Given the description of an element on the screen output the (x, y) to click on. 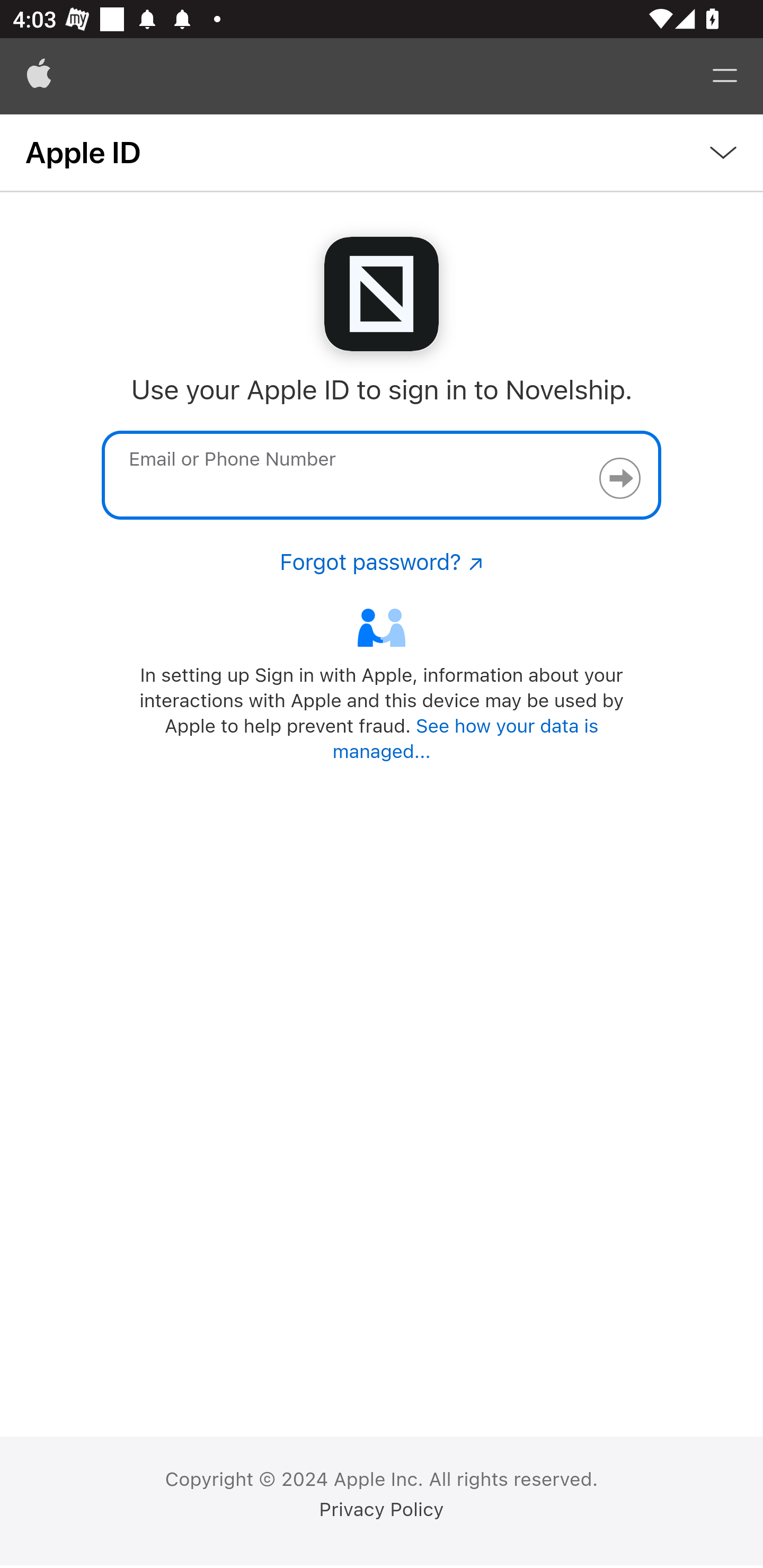
Apple (38, 75)
Menu (724, 75)
Continue (618, 477)
Privacy Policy (381, 1509)
